Given the description of an element on the screen output the (x, y) to click on. 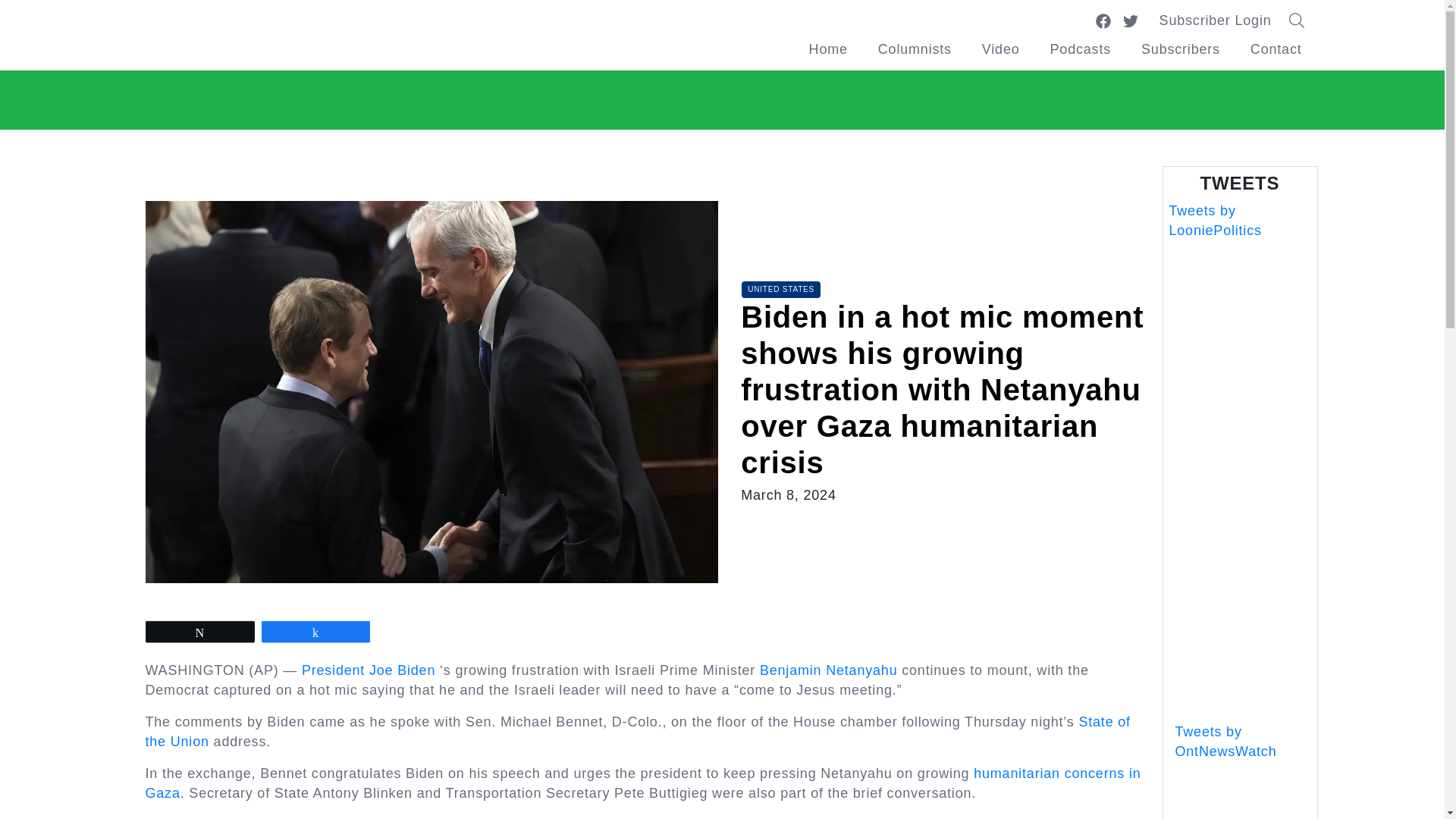
humanitarian concerns in Gaza. (643, 782)
Tweets by LooniePolitics (1215, 220)
Click to Search (1301, 20)
President Joe Biden (368, 670)
Tweets by OntNewsWatch (1225, 741)
Home (828, 49)
Subscriber Login (1215, 20)
Contact (1275, 49)
Video (1000, 49)
Benjamin Netanyahu (829, 670)
